Given the description of an element on the screen output the (x, y) to click on. 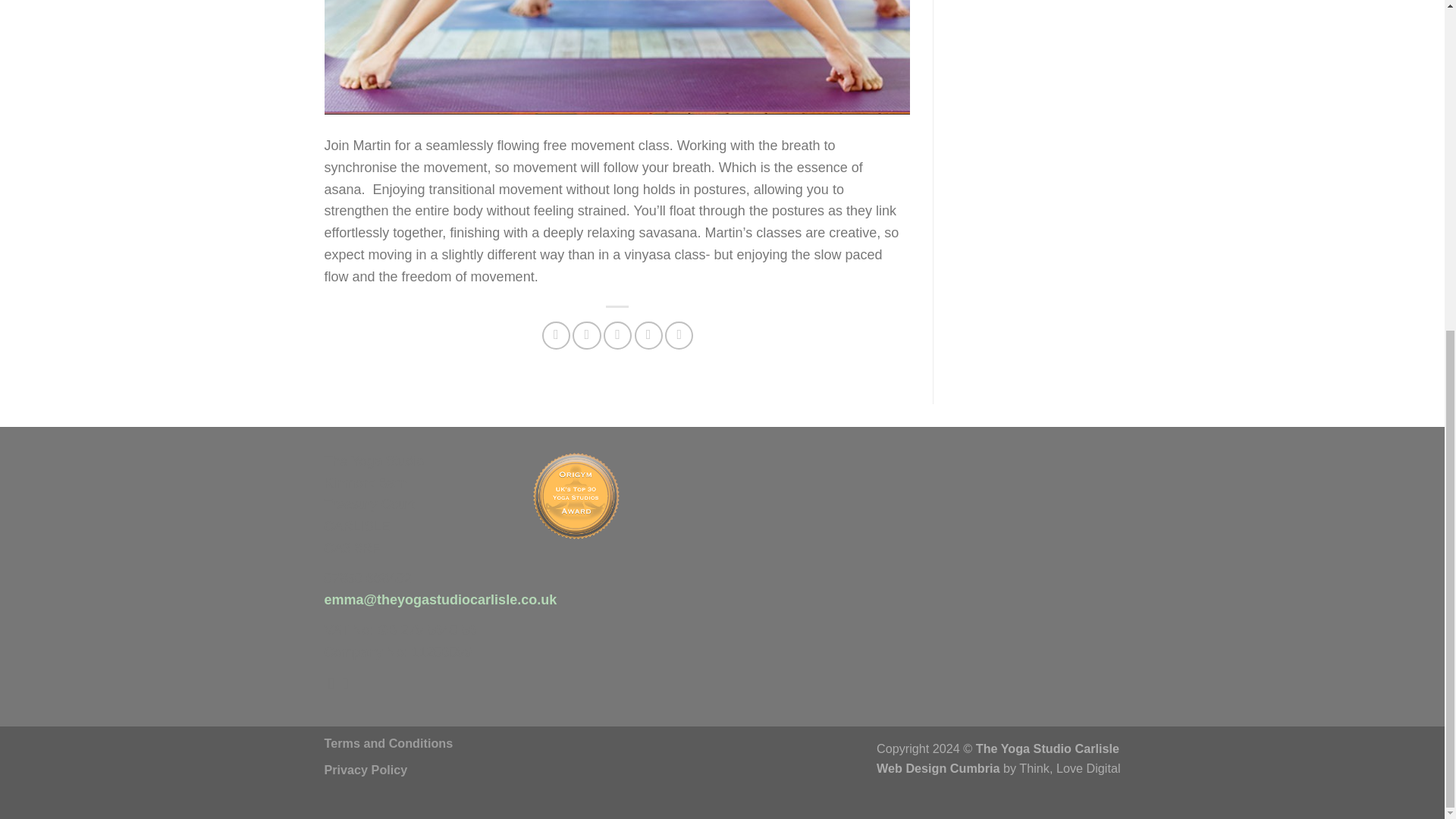
Share on Facebook (555, 335)
Share on LinkedIn (679, 335)
Email to a Friend (617, 335)
Web Design Cumbria (938, 767)
Terms and Conditions (388, 743)
Privacy Policy (365, 769)
Pin on Pinterest (648, 335)
Share on Twitter (585, 335)
